Given the description of an element on the screen output the (x, y) to click on. 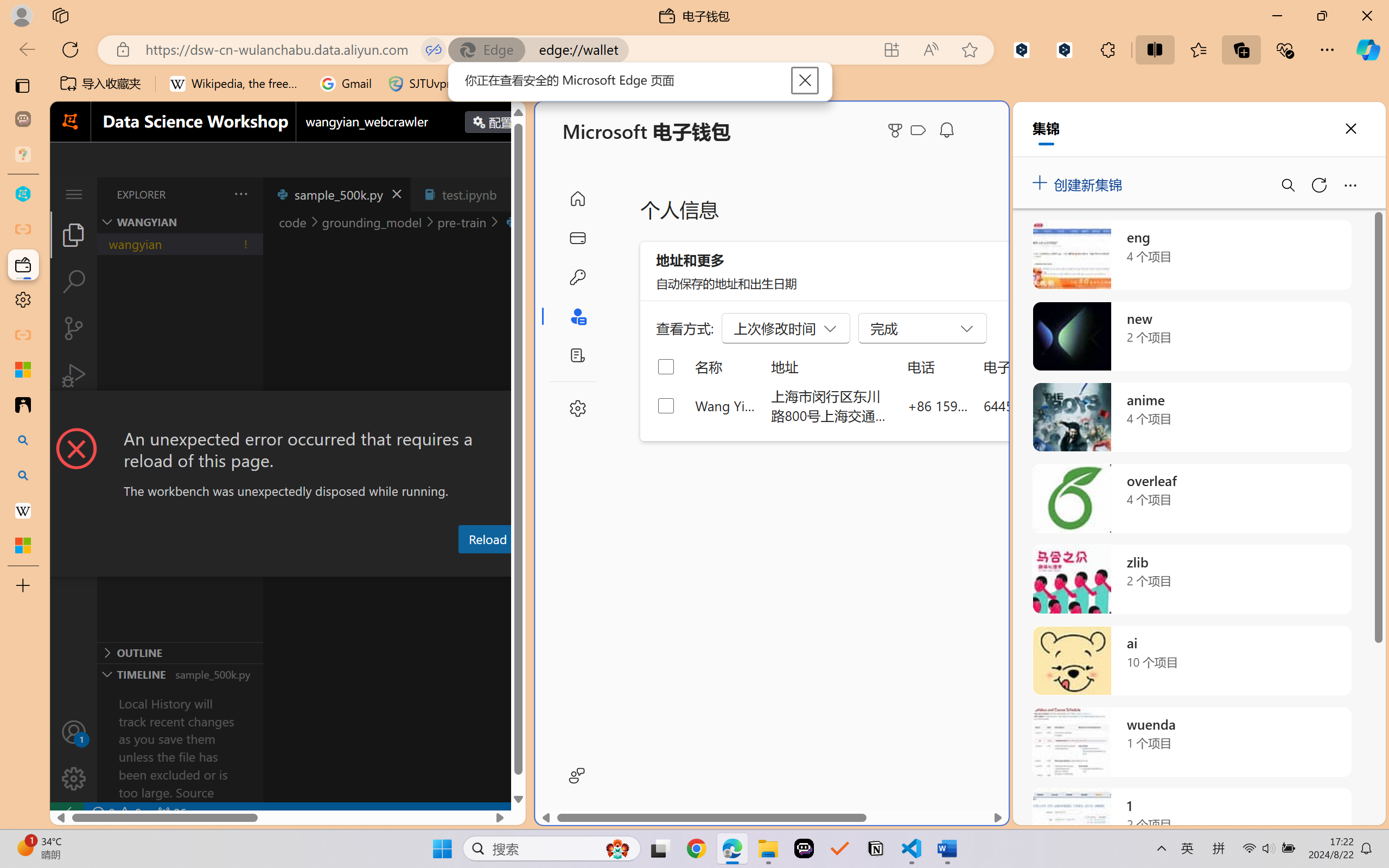
Explorer Section: wangyian (179, 221)
Earth - Wikipedia (22, 510)
Extensions (Ctrl+Shift+X) (73, 422)
Class: menubar compact overflow-menu-only (73, 194)
Accounts - Sign in requested (73, 732)
